Given the description of an element on the screen output the (x, y) to click on. 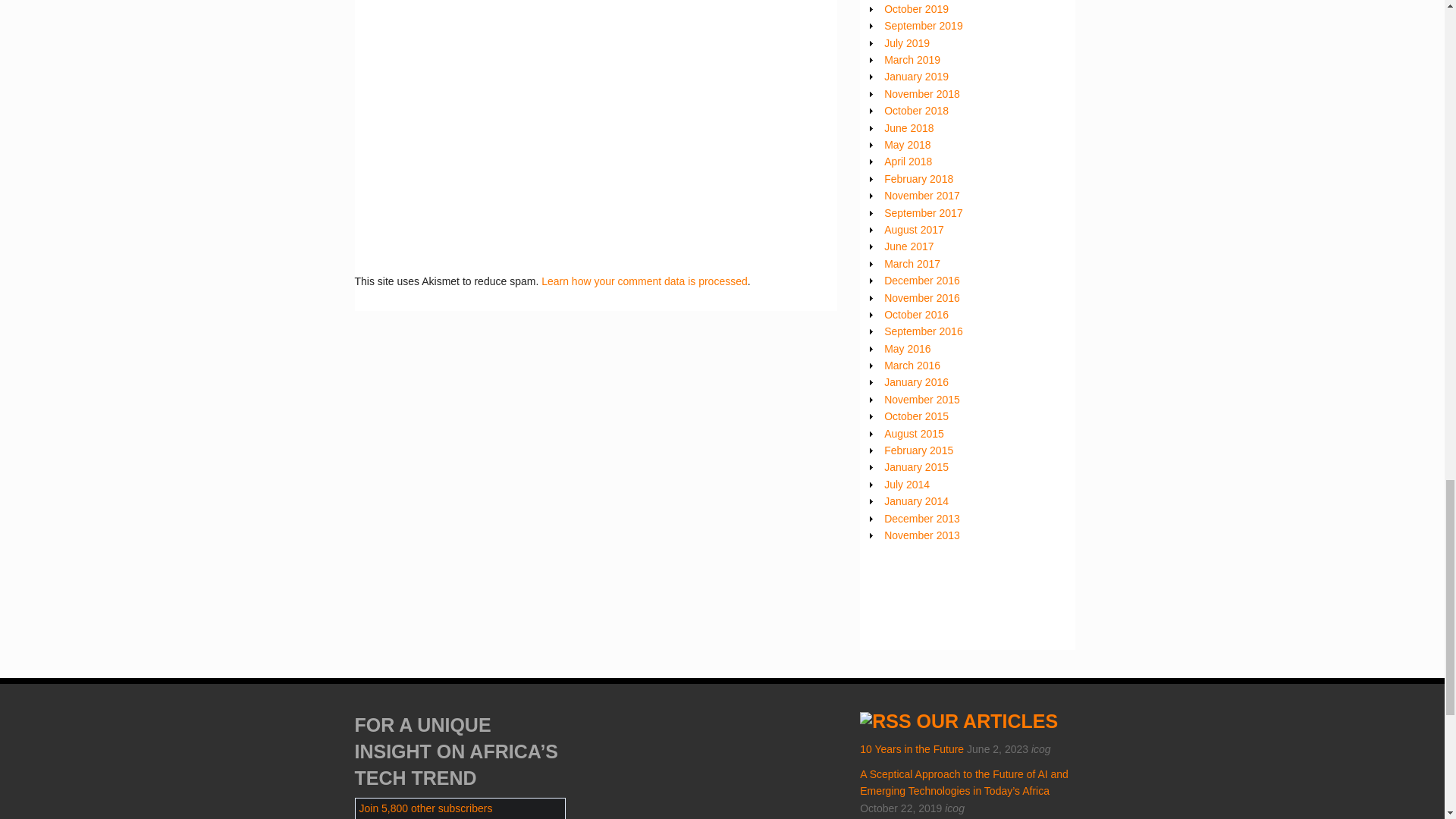
Comment Form (588, 119)
Learn how your comment data is processed (644, 281)
